Given the description of an element on the screen output the (x, y) to click on. 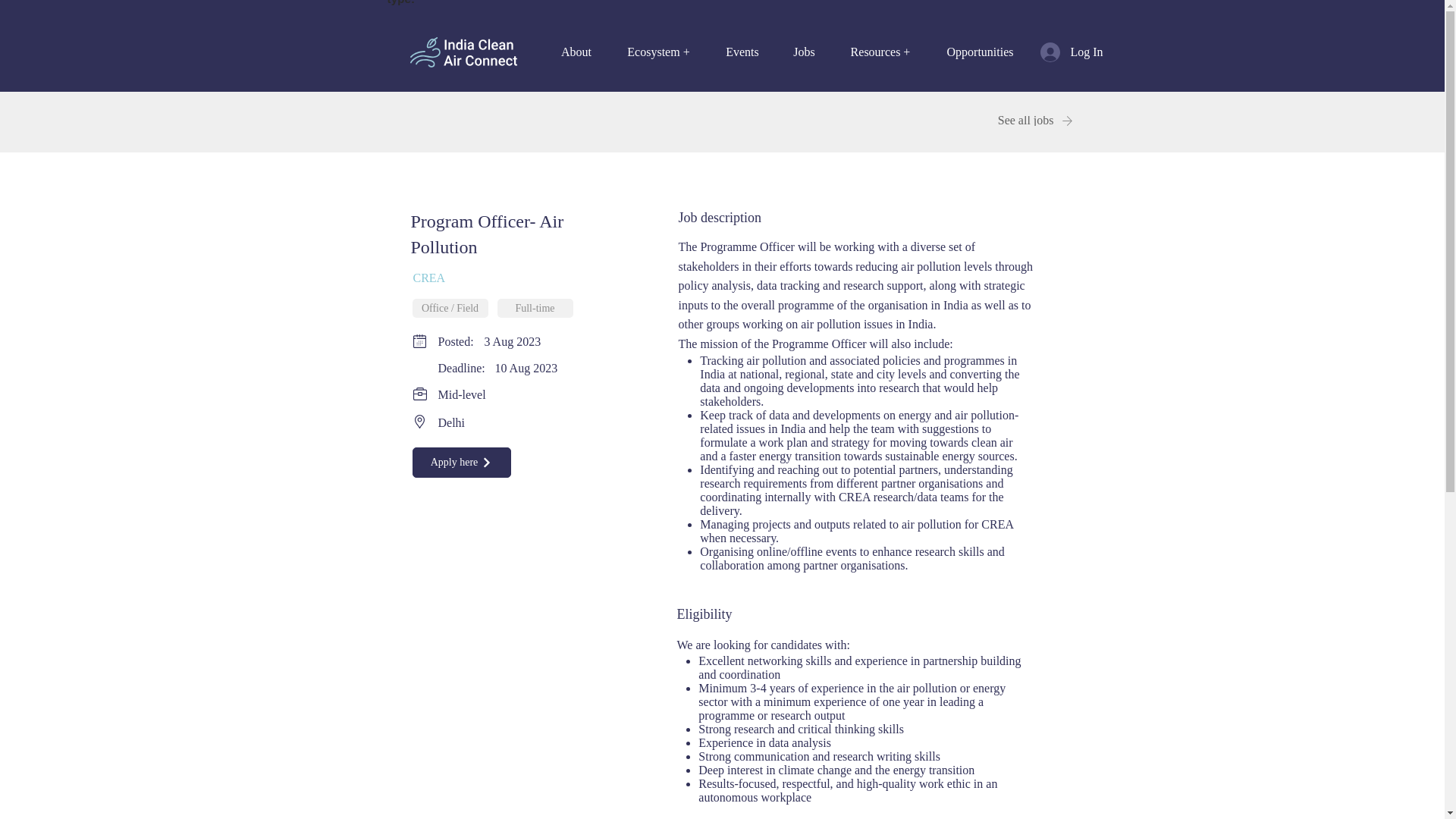
Log In (1060, 51)
About (576, 51)
Full-time (535, 308)
Opportunities (979, 51)
See all jobs (1017, 120)
Events (741, 51)
Jobs (804, 51)
Apply here (461, 462)
